Given the description of an element on the screen output the (x, y) to click on. 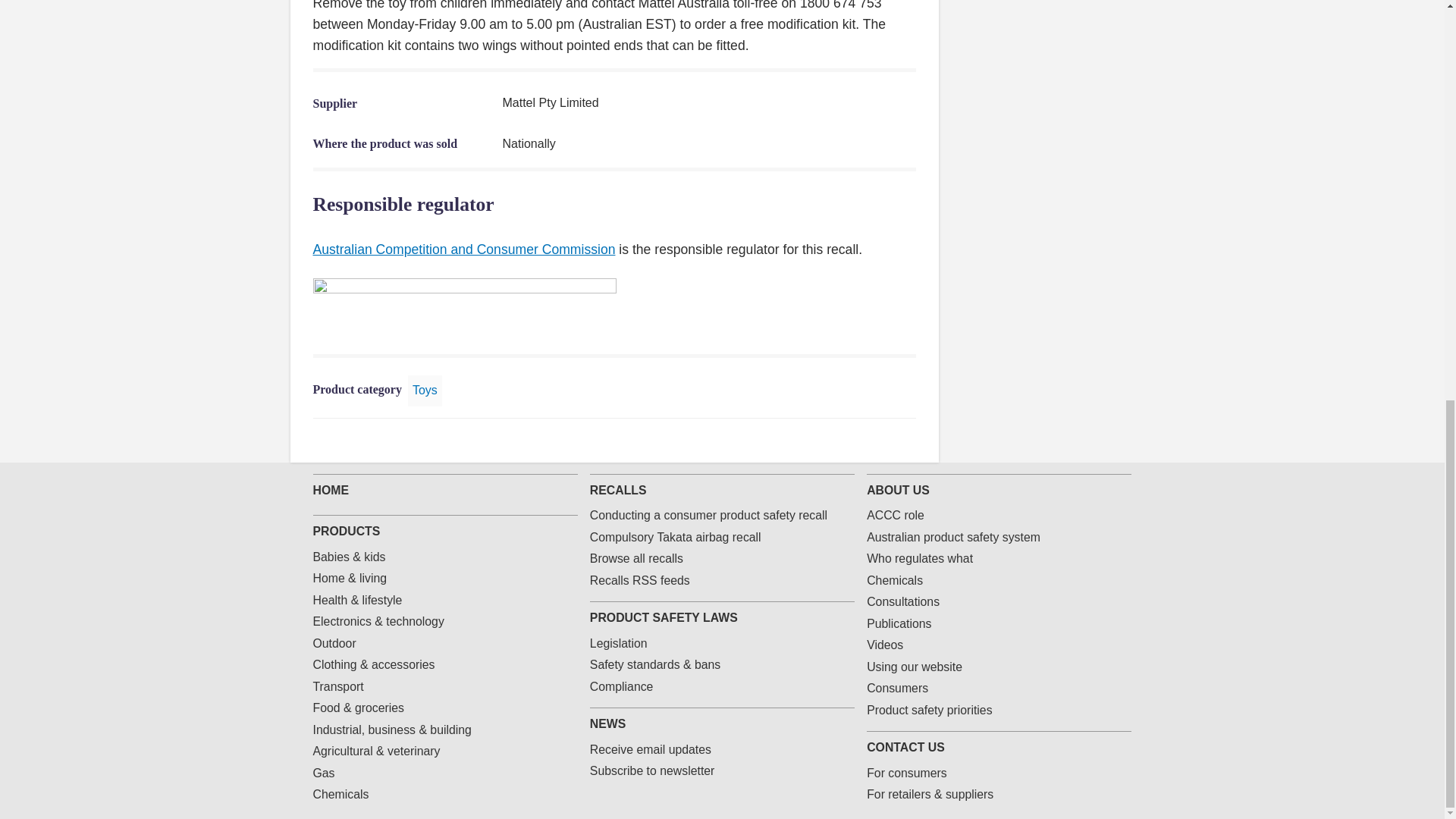
Print (906, 440)
Email (882, 440)
Share on LinkedIn (857, 440)
Share on Facebook (809, 440)
Share on Twitter (834, 440)
